Given the description of an element on the screen output the (x, y) to click on. 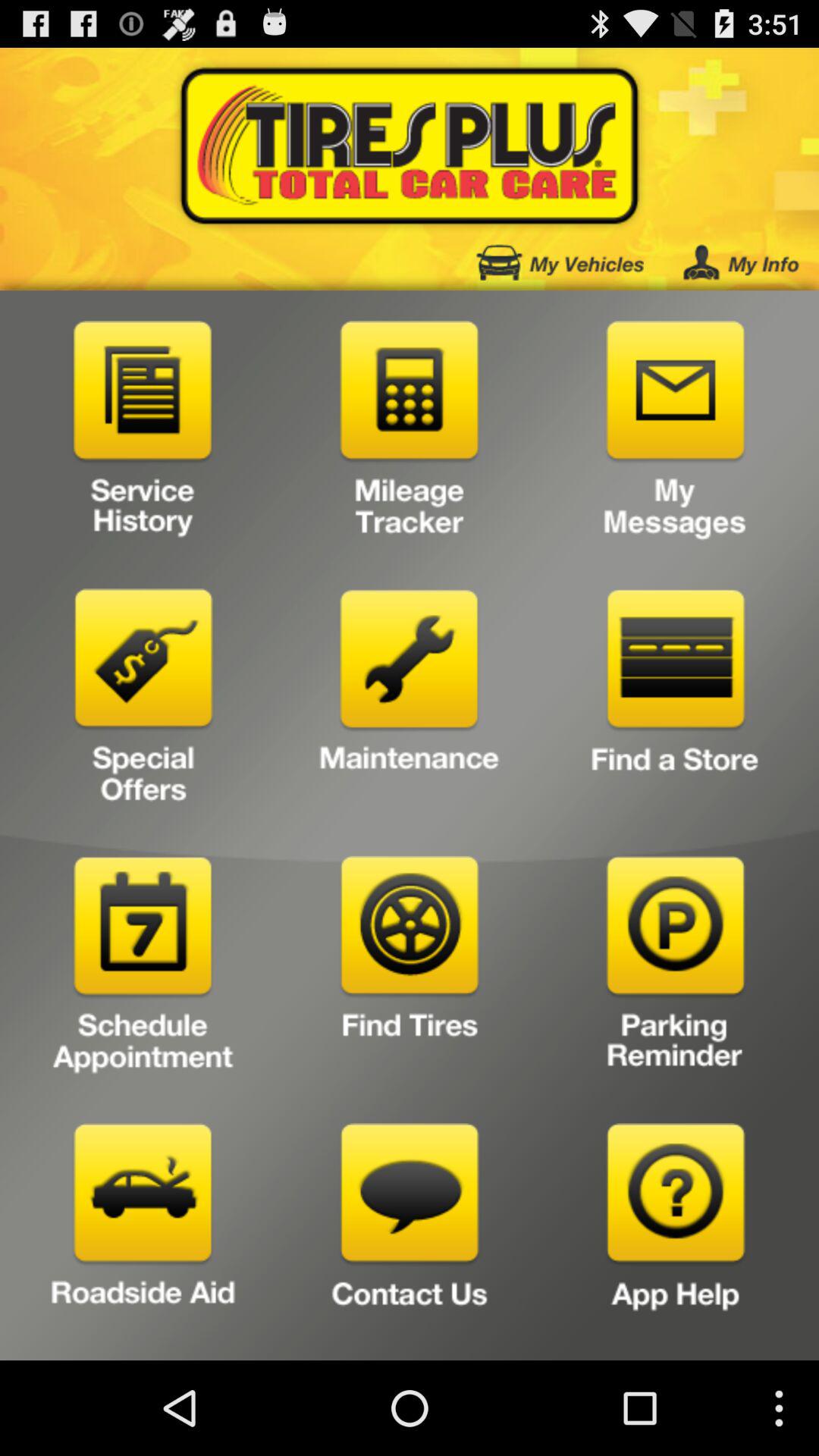
roadside aid option (142, 1236)
